Given the description of an element on the screen output the (x, y) to click on. 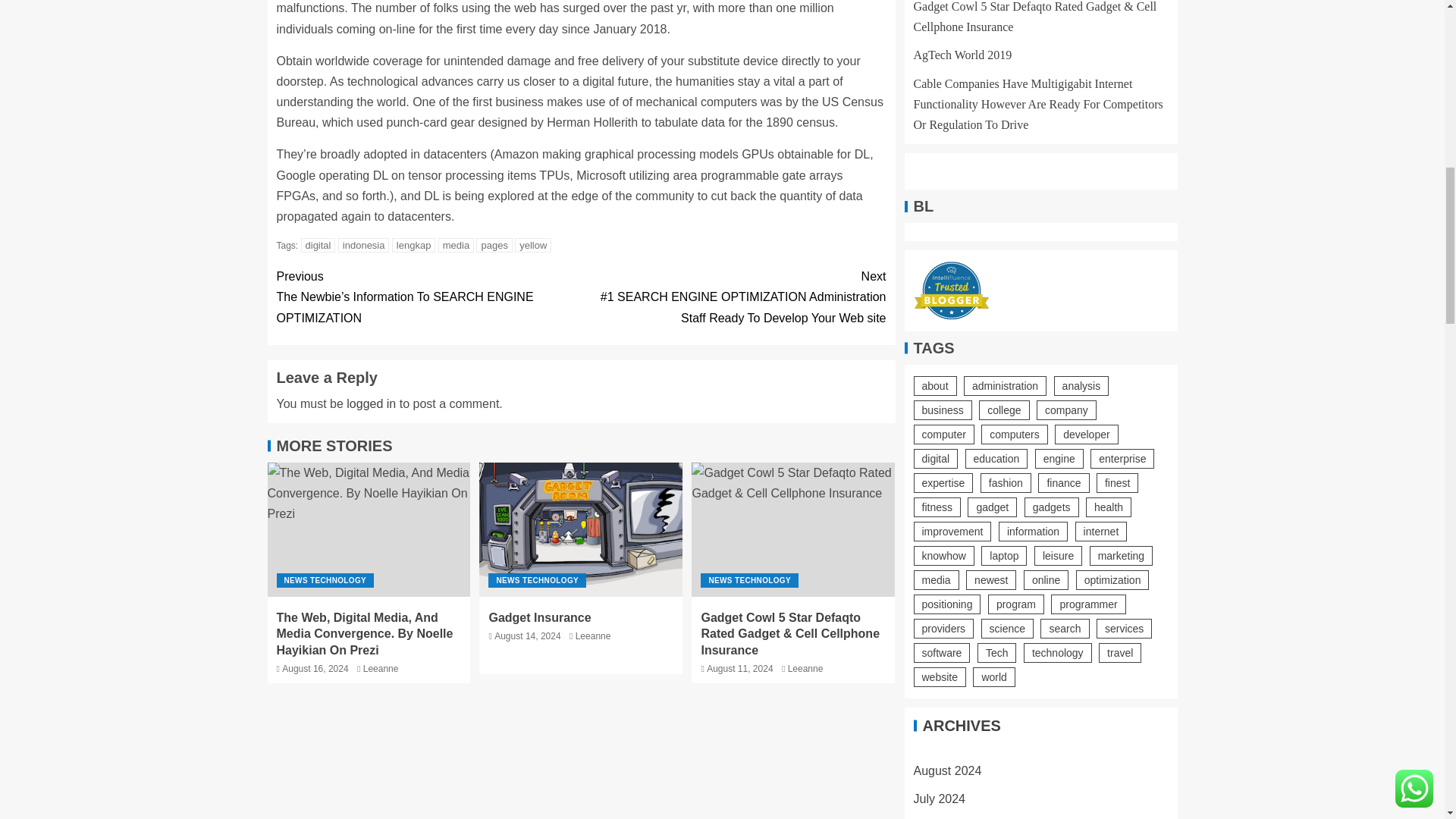
digital (318, 245)
NEWS TECHNOLOGY (536, 580)
logged in (371, 403)
Gadget Insurance (580, 529)
yellow (533, 245)
media (456, 245)
Leeanne (380, 668)
pages (494, 245)
